Given the description of an element on the screen output the (x, y) to click on. 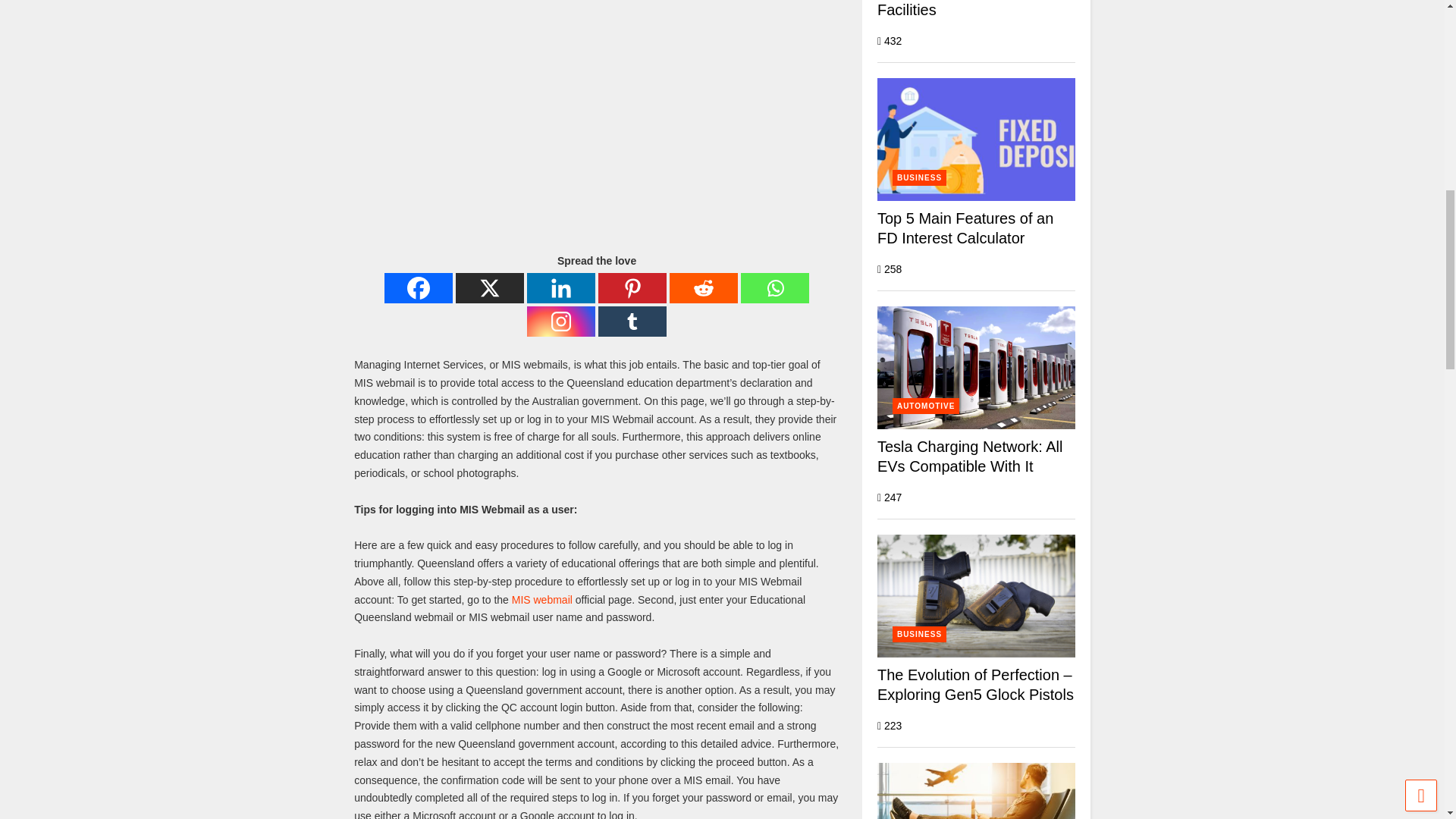
Pinterest (632, 287)
X (489, 287)
Linkedin (561, 287)
Advertisement (466, 120)
Facebook (418, 287)
